Given the description of an element on the screen output the (x, y) to click on. 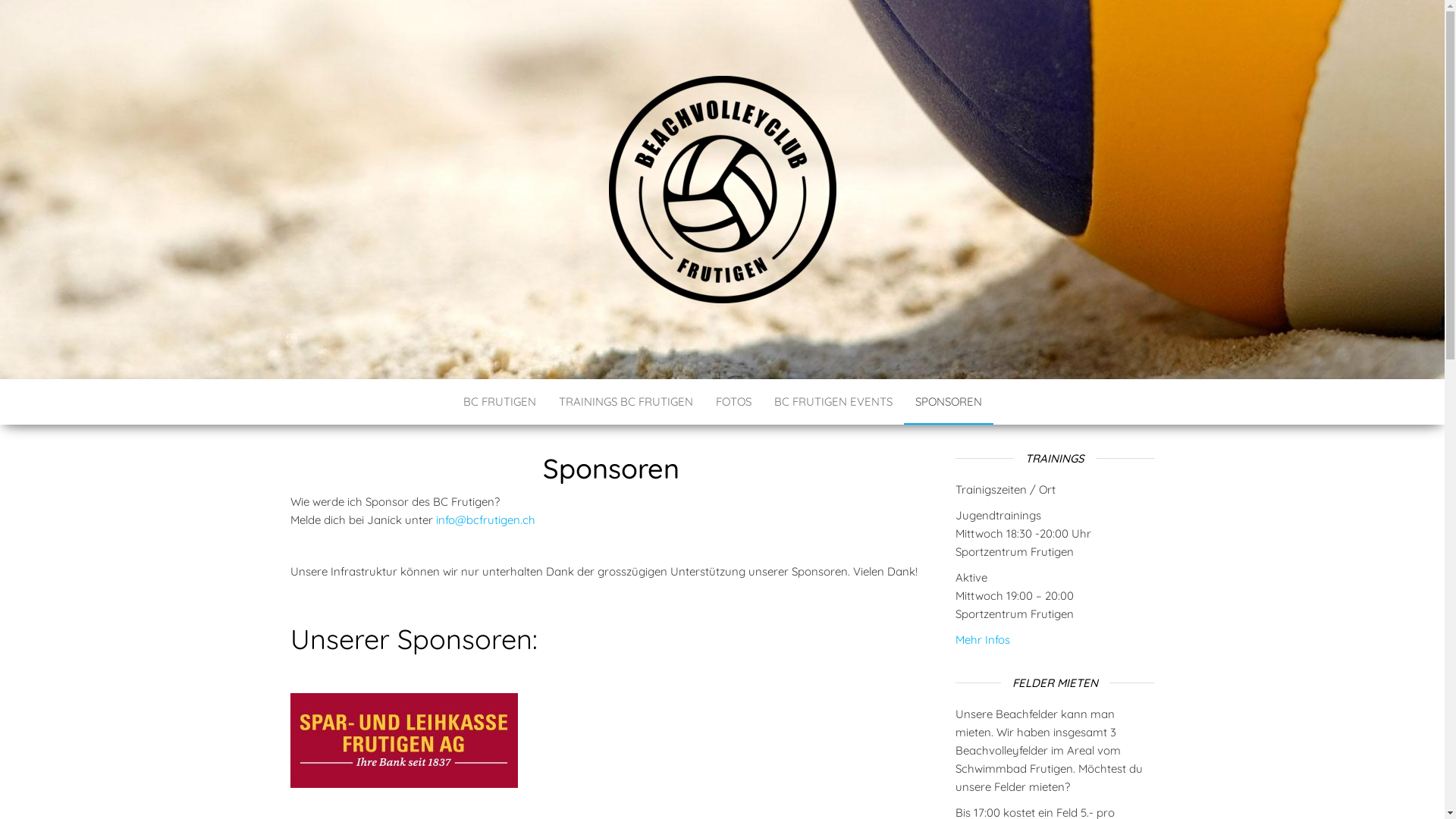
BC FRUTIGEN EVENTS Element type: text (832, 401)
TRAININGS BC FRUTIGEN Element type: text (625, 401)
BC FRUTIGEN Element type: text (430, 329)
SPONSOREN Element type: text (948, 401)
Mehr Infos Element type: text (982, 639)
FOTOS Element type: text (732, 401)
BC FRUTIGEN Element type: text (499, 401)
info@bcfrutigen.ch Element type: text (484, 519)
